Given the description of an element on the screen output the (x, y) to click on. 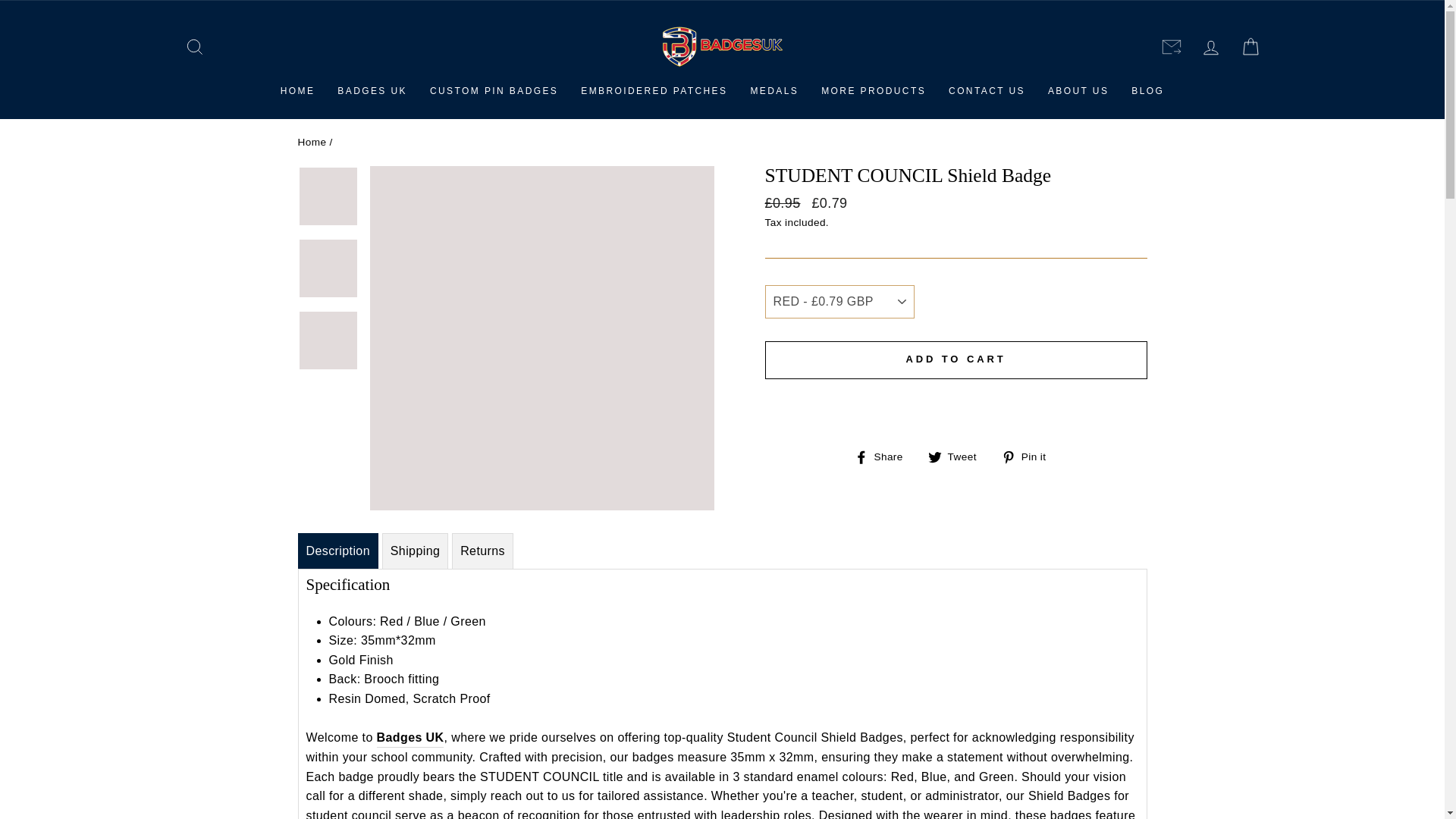
Back to the frontpage (311, 142)
HOME (297, 90)
SEARCH (194, 46)
LOG IN (1210, 46)
Badges UK (410, 738)
Tweet on Twitter (958, 456)
Pin on Pinterest (1029, 456)
Share on Facebook (884, 456)
CART (1249, 46)
